Given the description of an element on the screen output the (x, y) to click on. 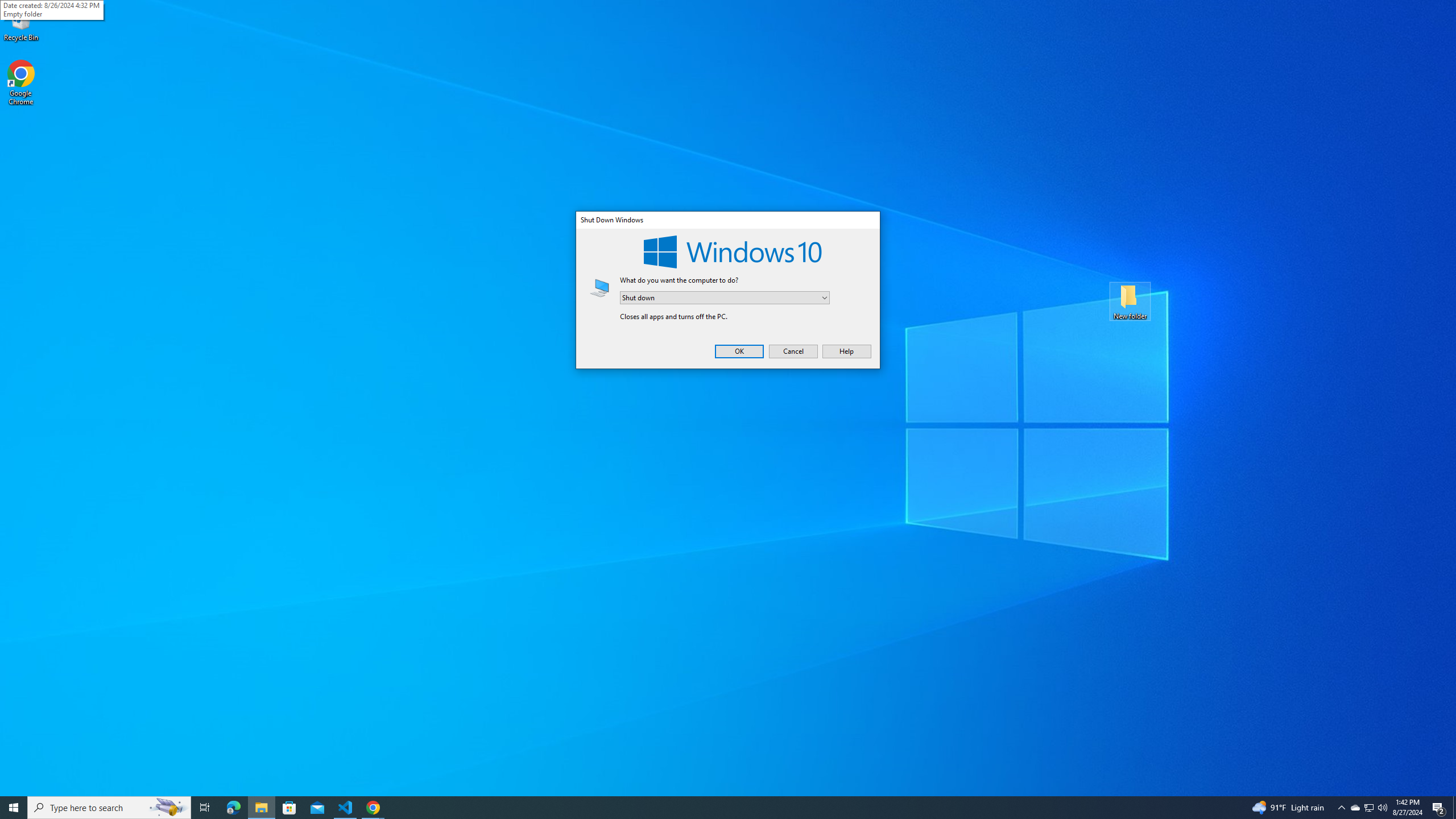
Notification Chevron (1341, 807)
Cancel (793, 350)
AutomationID: 2027 (599, 287)
Search highlights icon opens search home window (167, 807)
Q2790: 100% (1382, 807)
Open (825, 297)
Running applications (717, 807)
Show desktop (1454, 807)
